Given the description of an element on the screen output the (x, y) to click on. 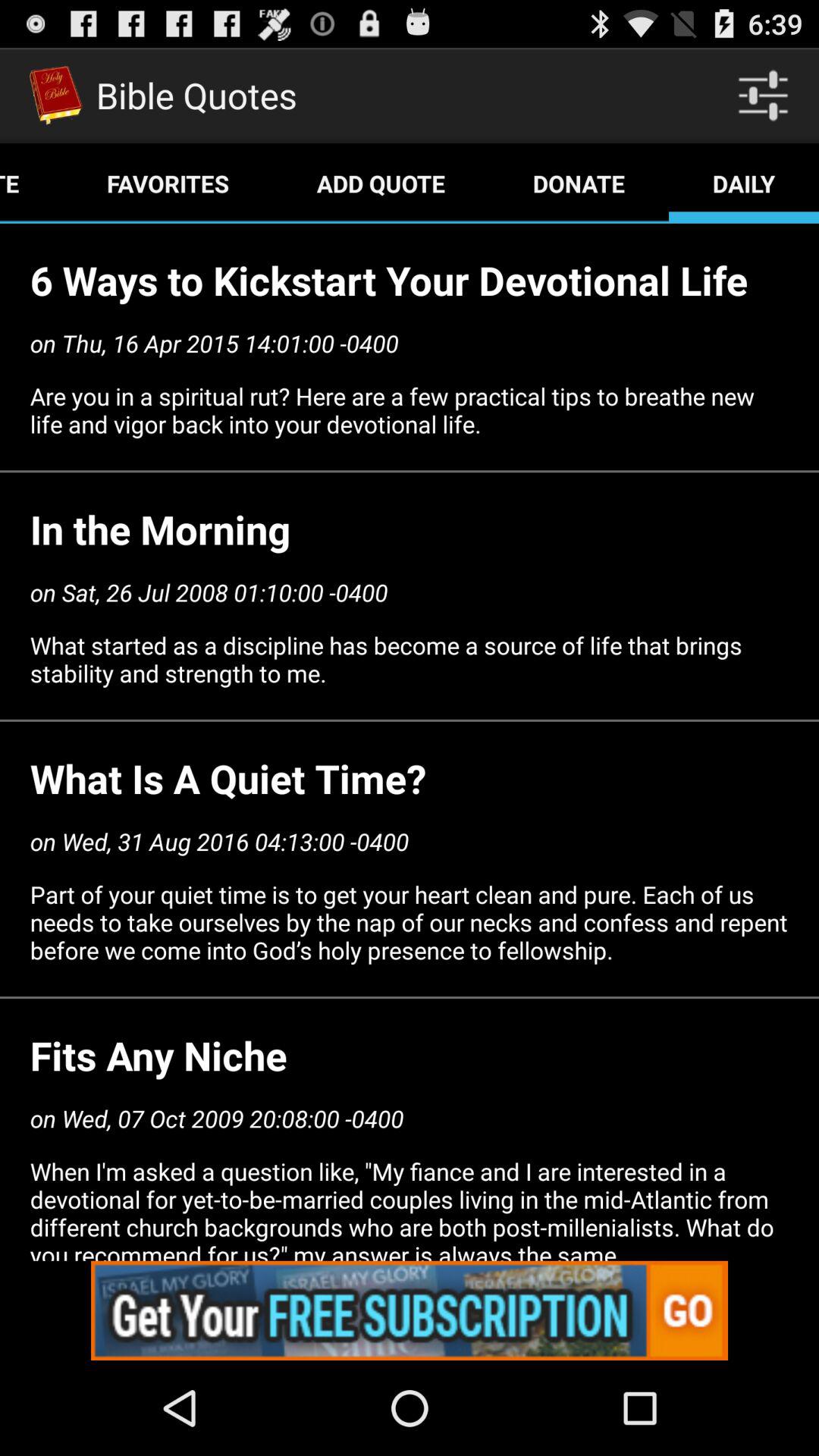
advertisement (409, 1310)
